Given the description of an element on the screen output the (x, y) to click on. 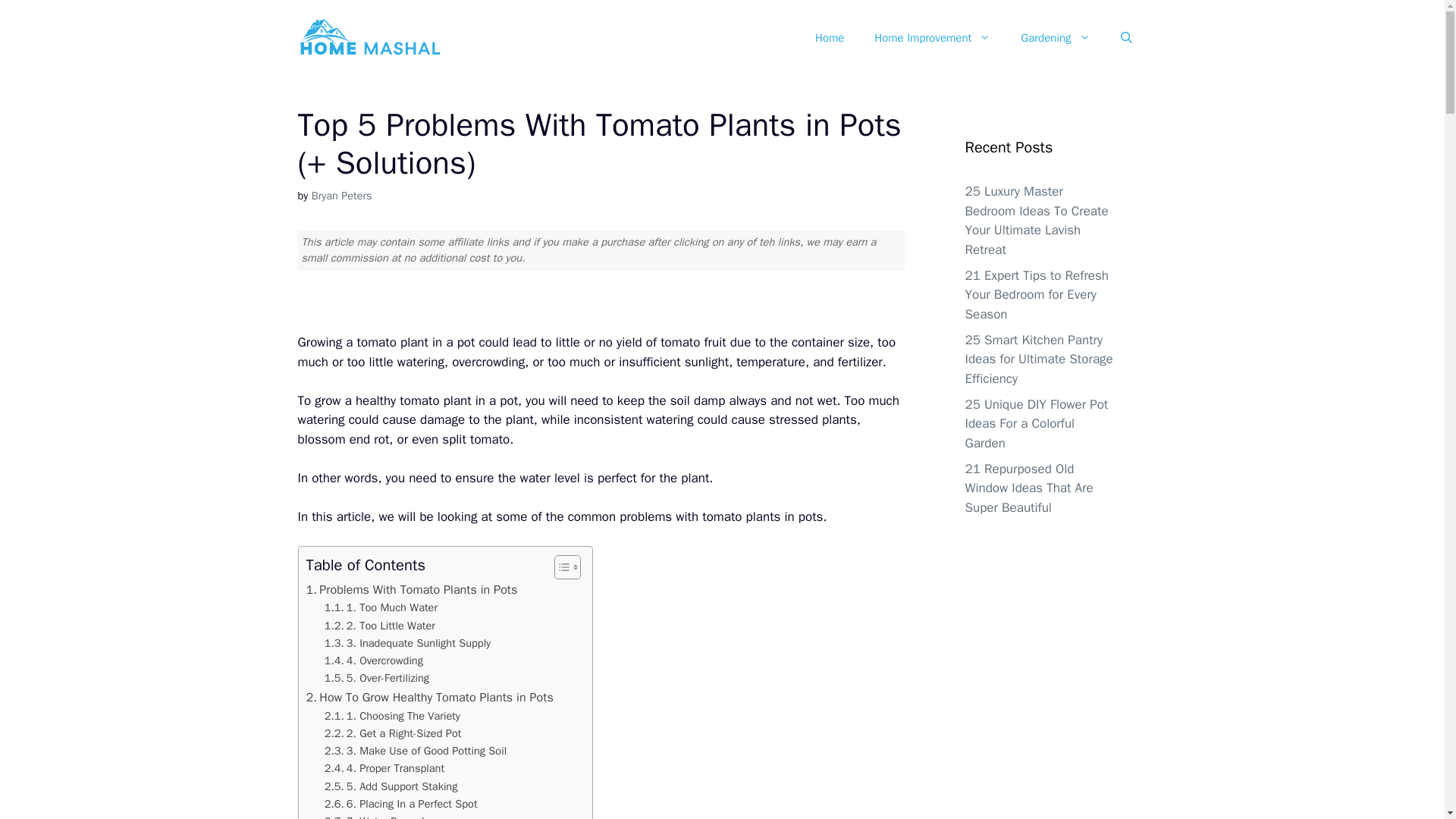
3. Inadequate Sunlight Supply  (409, 642)
4. Overcrowding  (375, 660)
View all posts by Bryan Peters (341, 195)
Problems With Tomato Plants in Pots (411, 589)
2. Get a Right-Sized Pot  (394, 733)
How To Grow Healthy Tomato Plants in Pots (429, 697)
1. Too Much Water  (382, 607)
2. Too Little Water (379, 625)
